Given the description of an element on the screen output the (x, y) to click on. 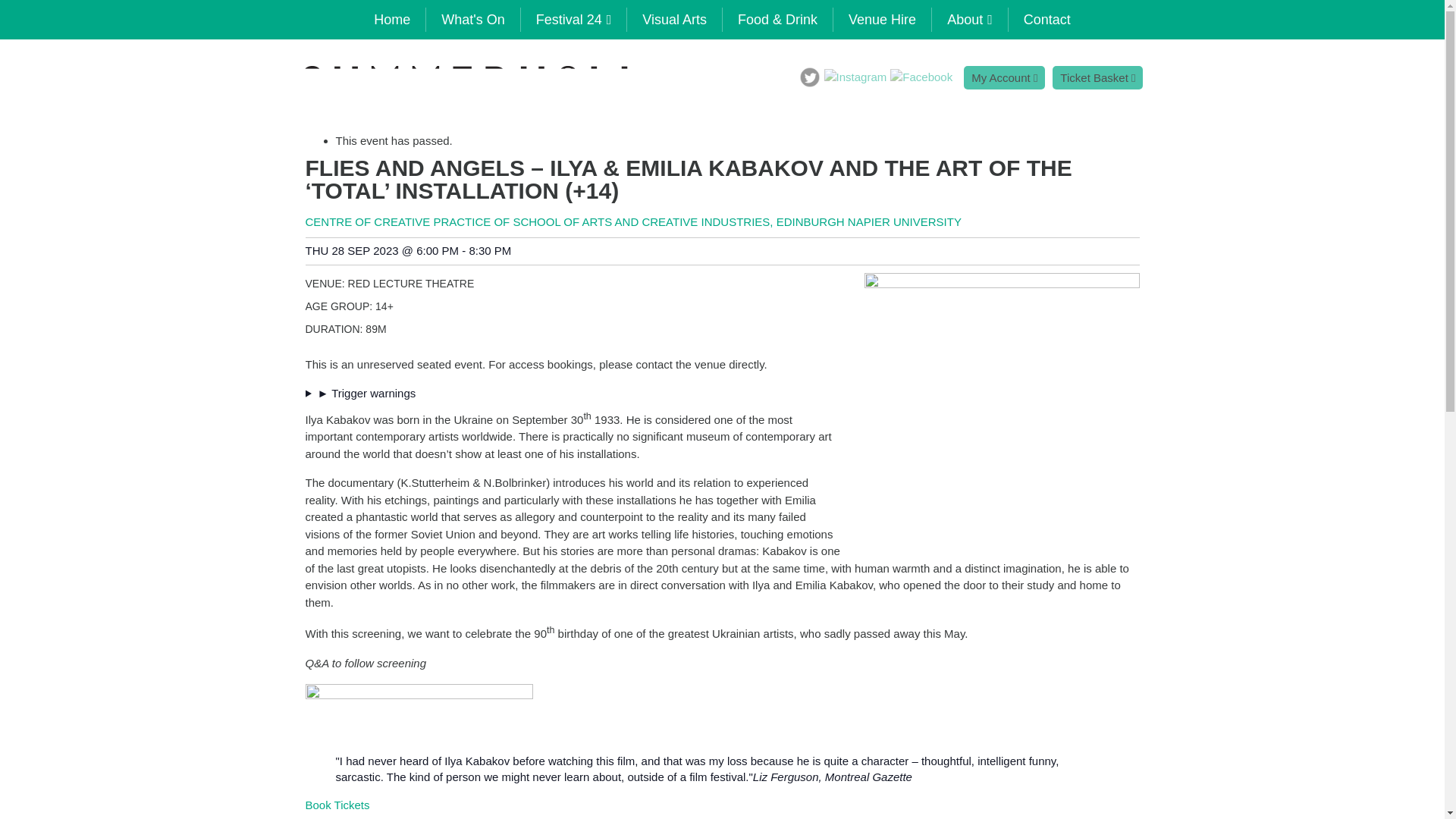
What's On (467, 19)
Book Tickets (336, 804)
Home (385, 19)
Visual Arts (668, 19)
Instagram (855, 76)
About (963, 19)
Festival 24 (568, 19)
Book Tickets (336, 804)
Instagram (857, 77)
